Given the description of an element on the screen output the (x, y) to click on. 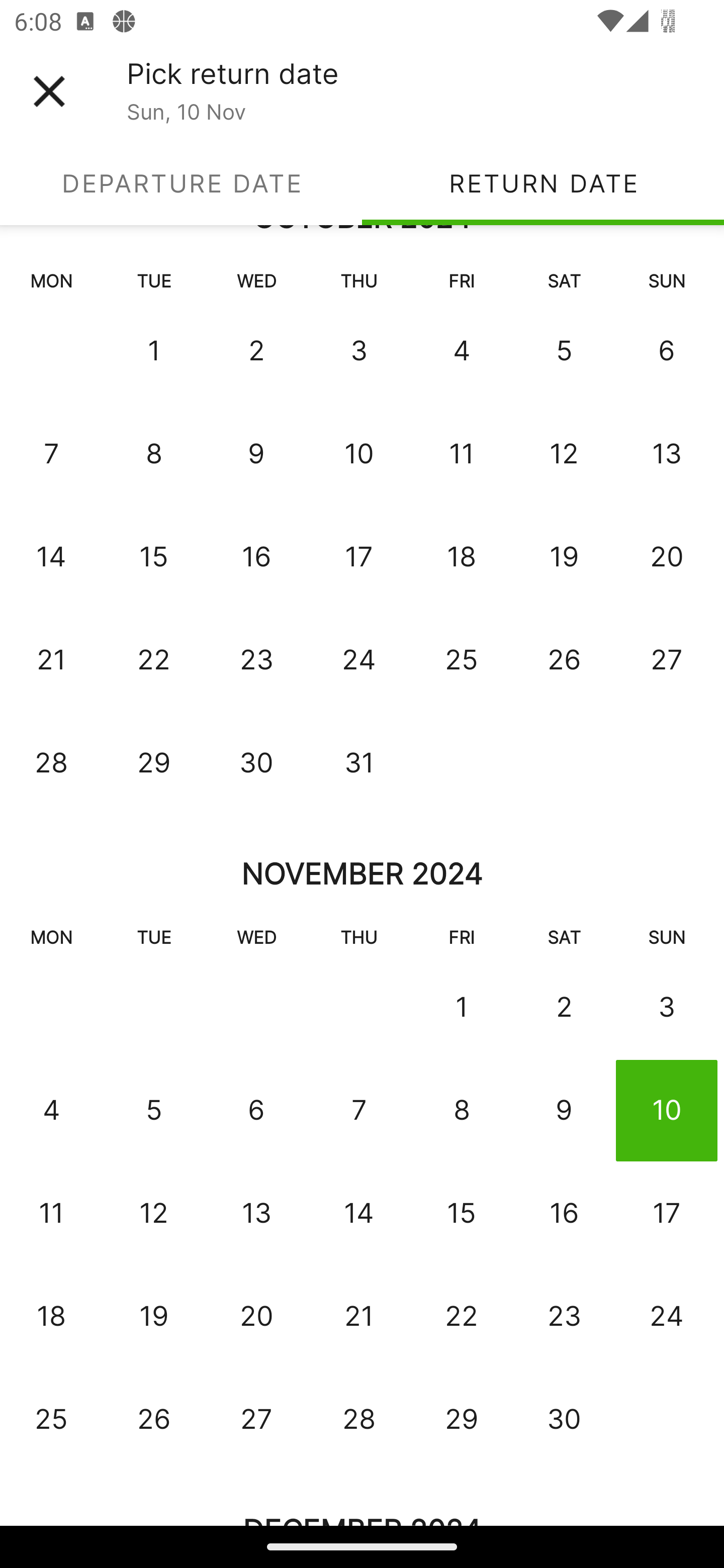
Departure Date DEPARTURE DATE (181, 183)
